Given the description of an element on the screen output the (x, y) to click on. 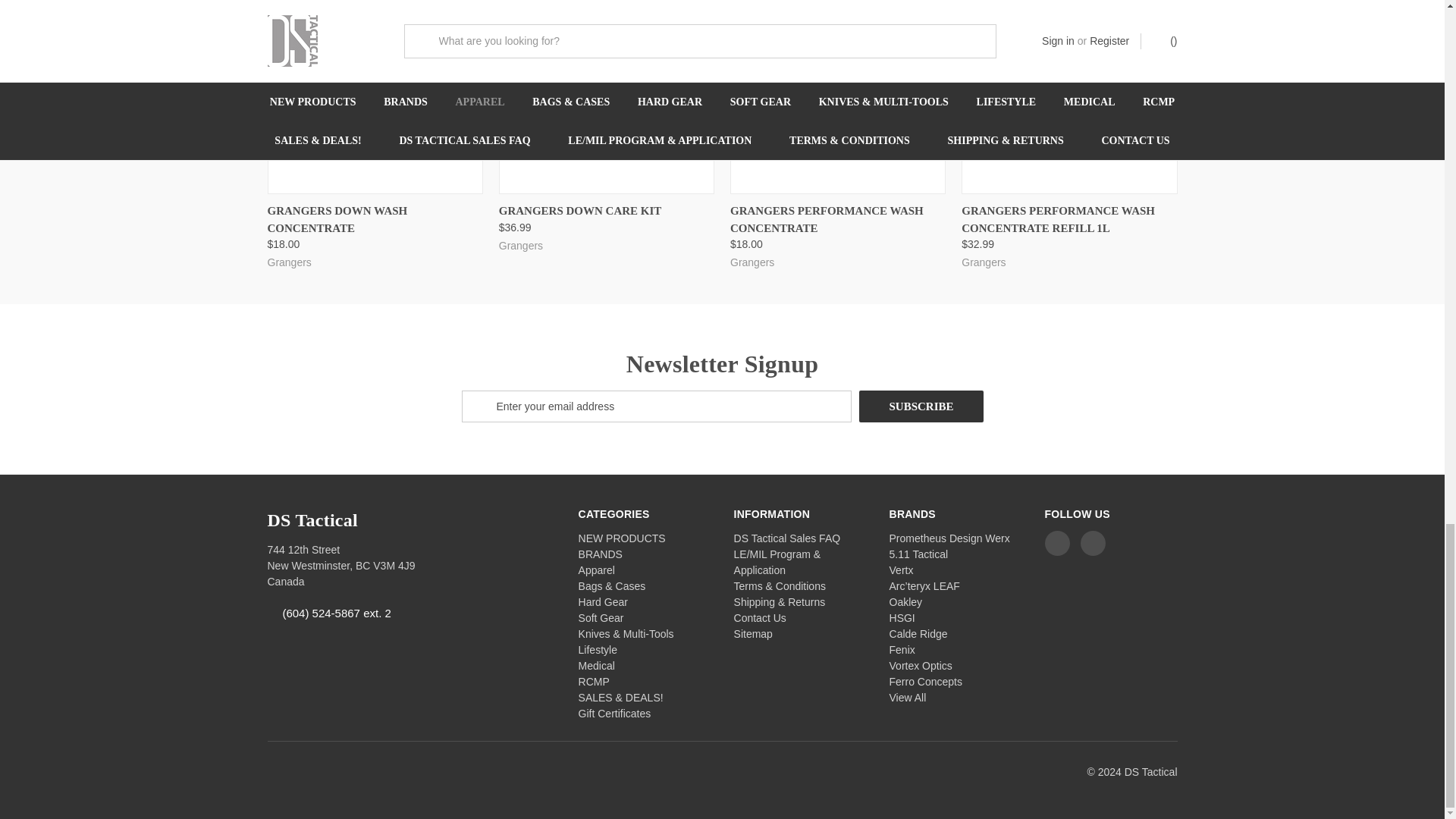
Grangers Down Care Kit (606, 95)
Grangers Performance Wash Concentrate (837, 95)
Grangers Performance Wash Concentrate Refill 1L (1068, 95)
Grangers Down Wash Concentrate (374, 95)
Subscribe (920, 406)
